Given the description of an element on the screen output the (x, y) to click on. 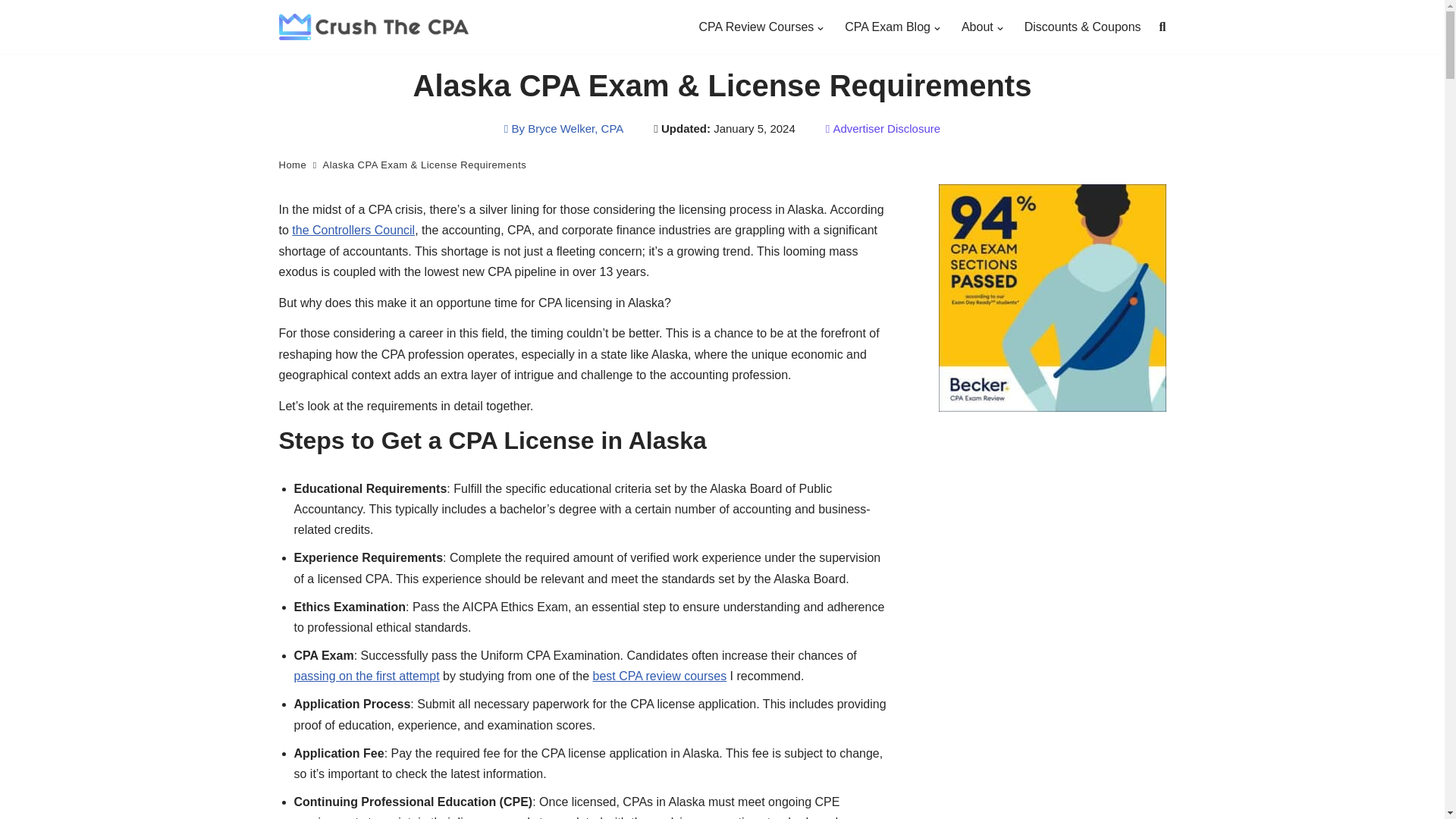
CPA Exam Blog (887, 26)
Skip to content (11, 31)
CPA Review Courses (755, 26)
